Given the description of an element on the screen output the (x, y) to click on. 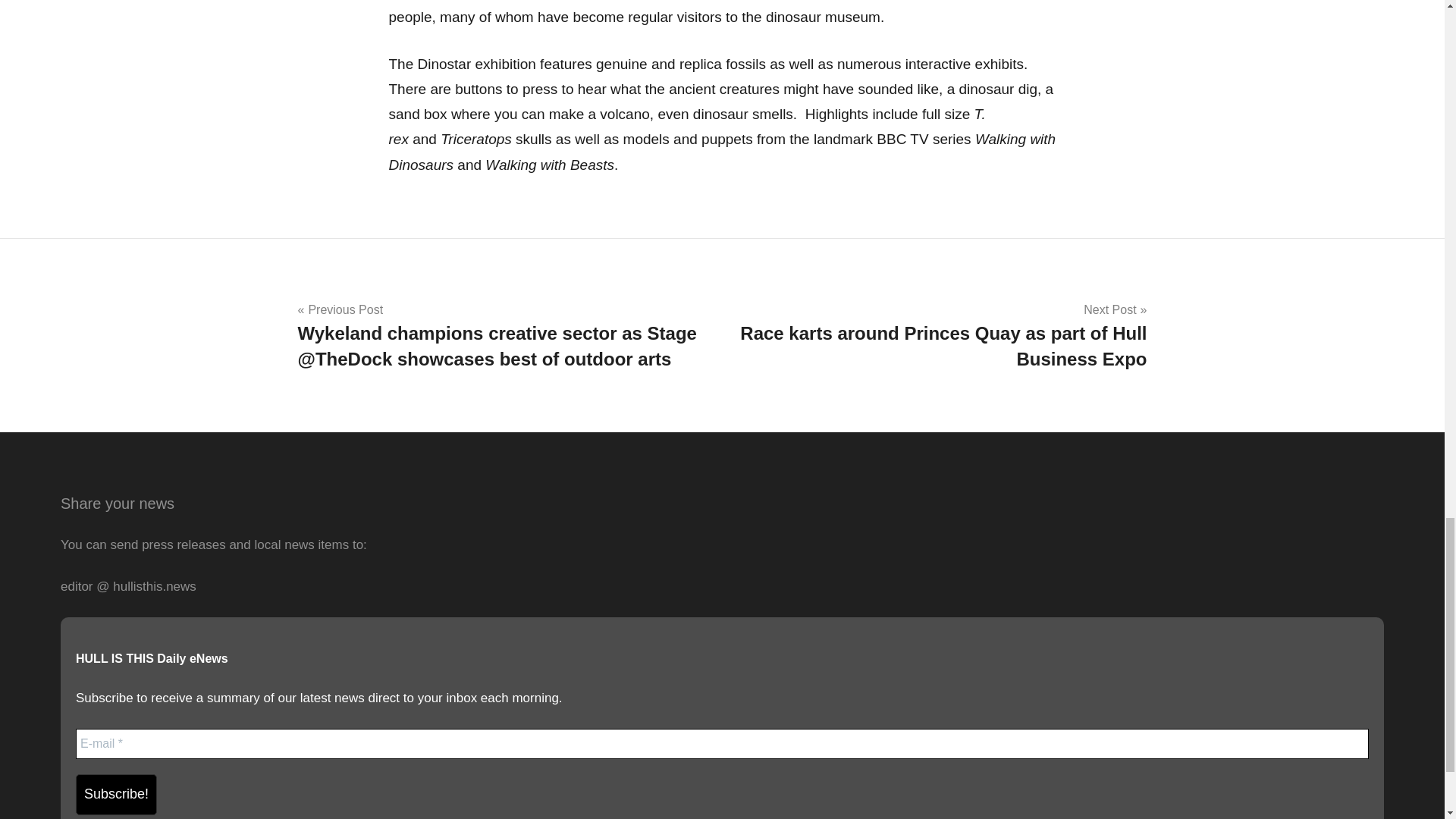
Subscribe! (116, 793)
Subscribe! (116, 793)
E-mail (721, 743)
